Given the description of an element on the screen output the (x, y) to click on. 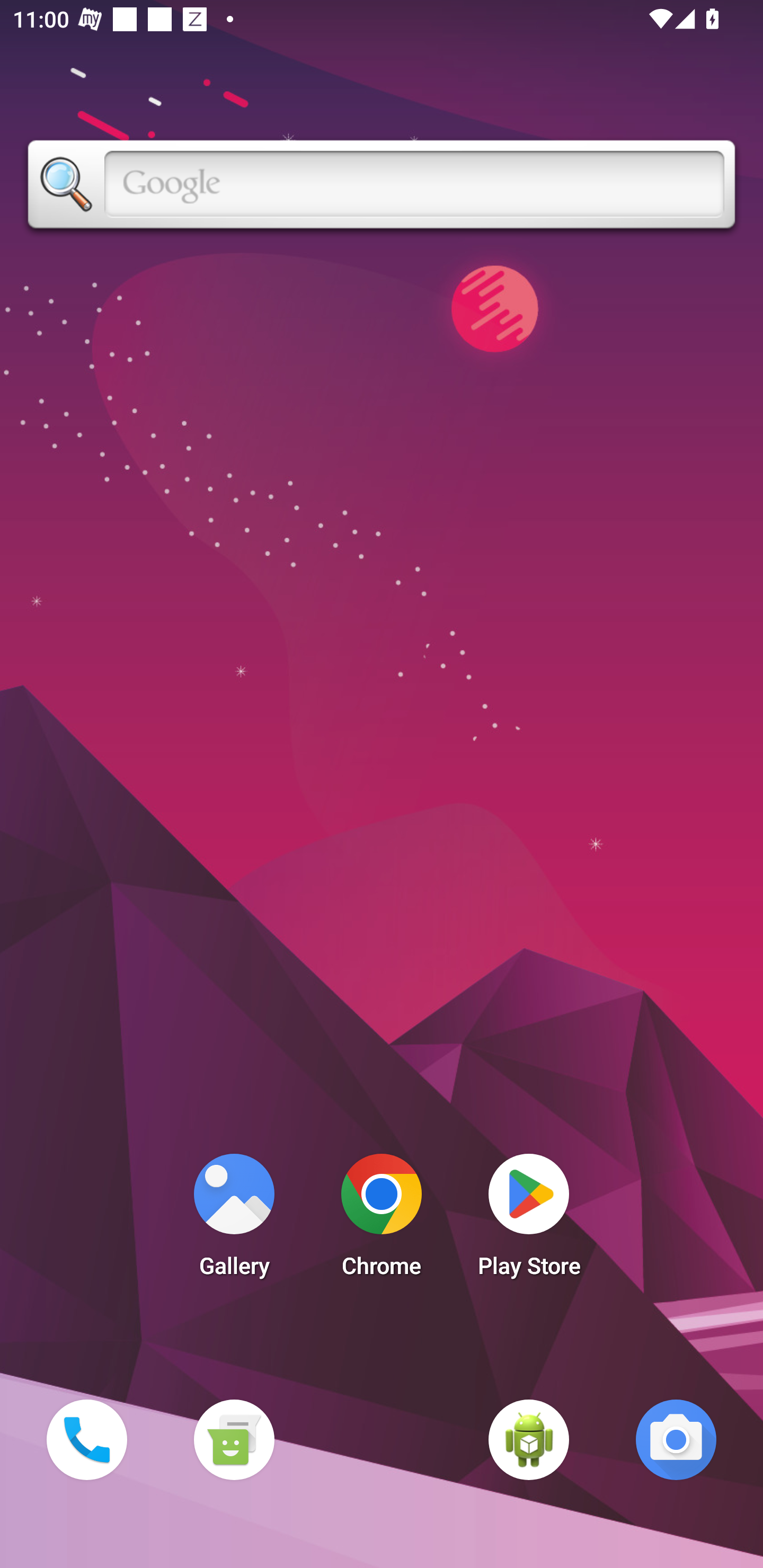
Gallery (233, 1220)
Chrome (381, 1220)
Play Store (528, 1220)
Phone (86, 1439)
Messaging (233, 1439)
WebView Browser Tester (528, 1439)
Camera (676, 1439)
